Given the description of an element on the screen output the (x, y) to click on. 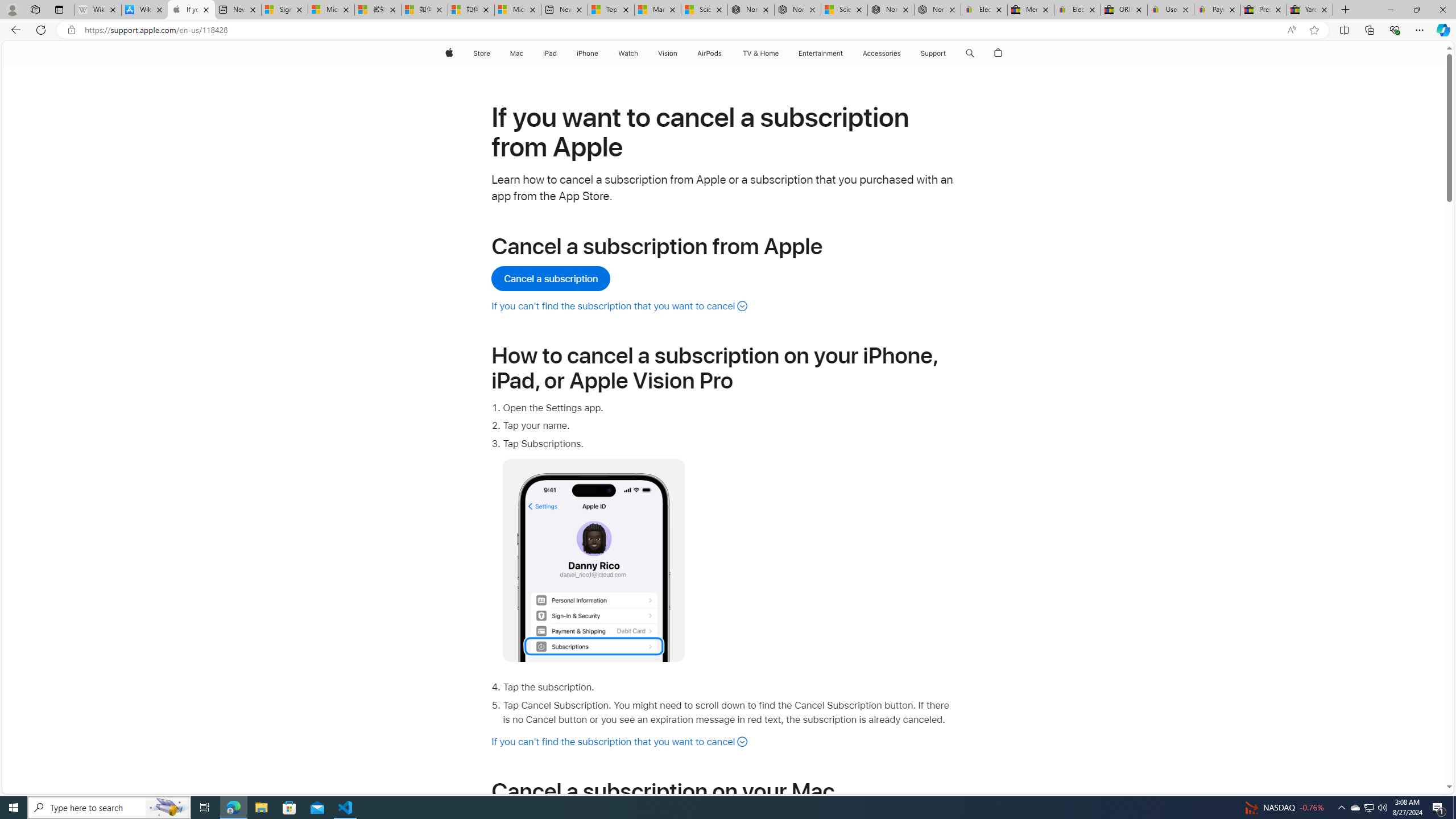
Accessories menu (903, 53)
Shopping Bag (998, 53)
Tap Subscriptions. (729, 549)
Tap the subscription. (729, 687)
iPad (550, 53)
Class: globalnav-item globalnav-search shift-0-1 (969, 53)
AutomationID: globalnav-bag (998, 53)
iPhone menu (600, 53)
